Given the description of an element on the screen output the (x, y) to click on. 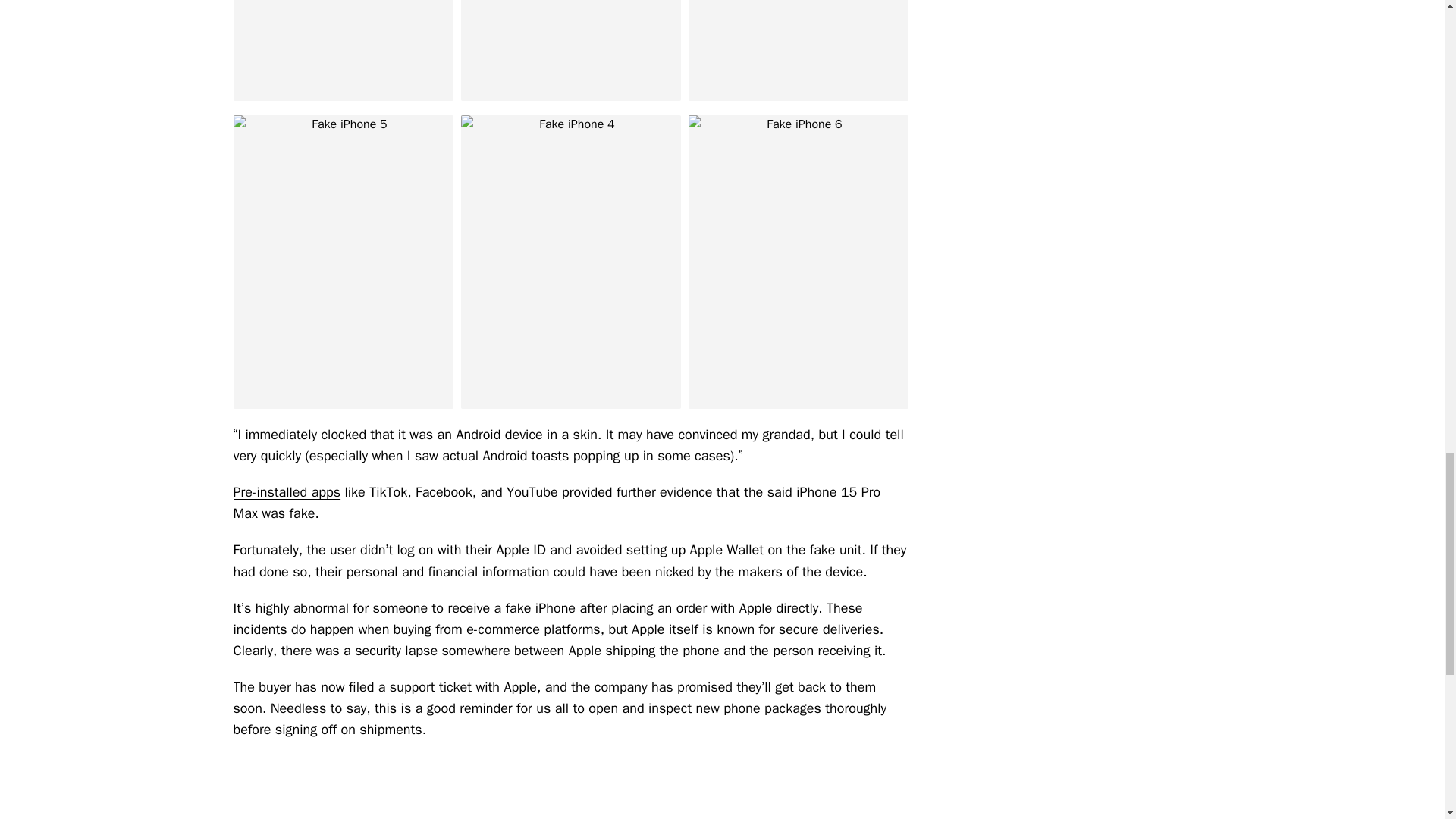
Pre-installed apps (286, 492)
Fake iPhone 1 (342, 50)
Fake iPhone 2 (571, 50)
Fake iPhone 3 (798, 50)
